Given the description of an element on the screen output the (x, y) to click on. 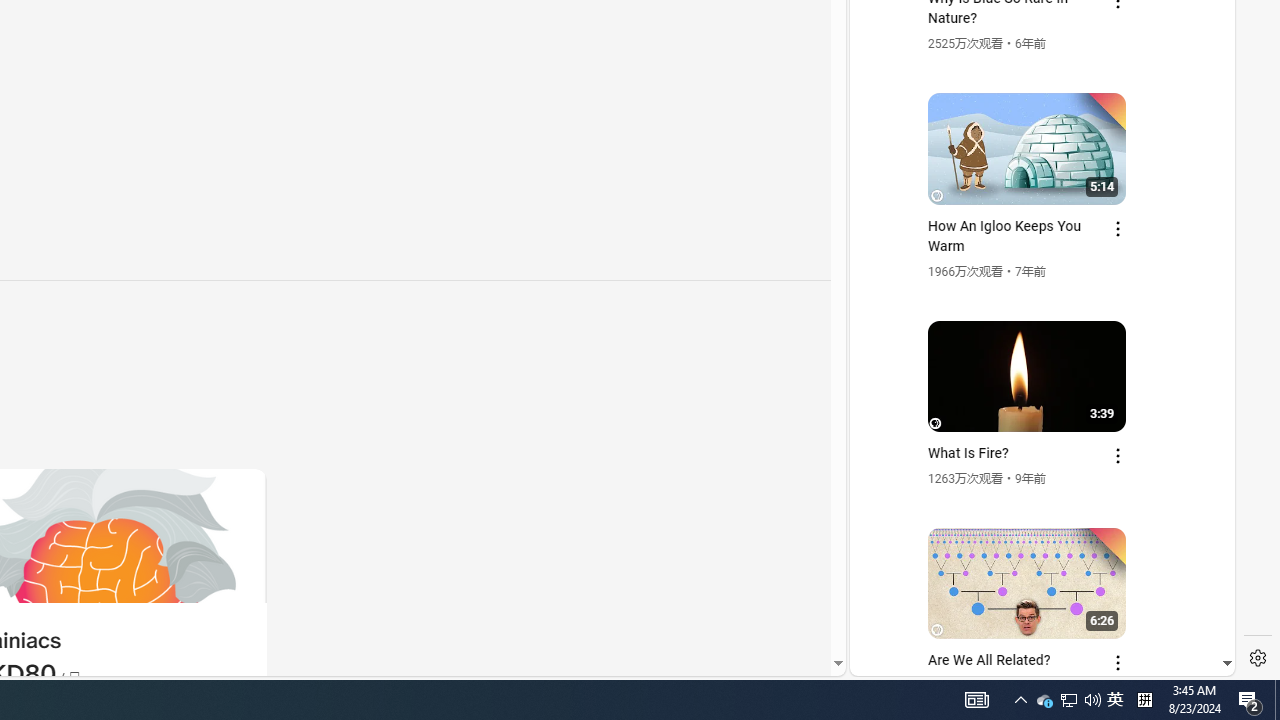
Click to scroll right (1196, 83)
